Given the description of an element on the screen output the (x, y) to click on. 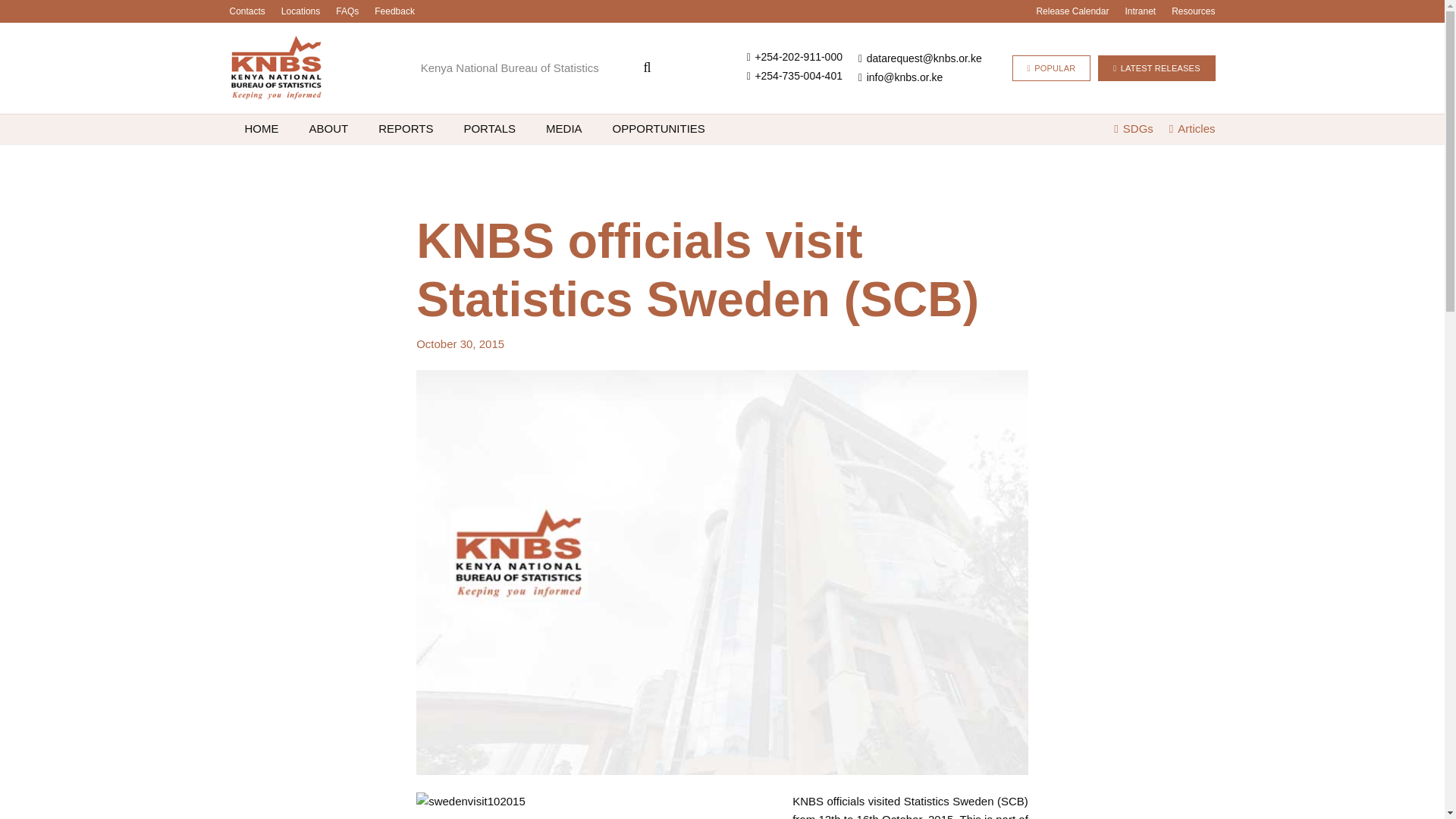
Contacts (246, 10)
Intranet (1140, 10)
LATEST RELEASES (1155, 68)
Feedback (394, 10)
Locations (300, 10)
Release Calendar (1071, 10)
ABOUT (329, 128)
HOME (261, 128)
FAQs (347, 10)
Resources (1193, 10)
POPULAR (1050, 68)
